Given the description of an element on the screen output the (x, y) to click on. 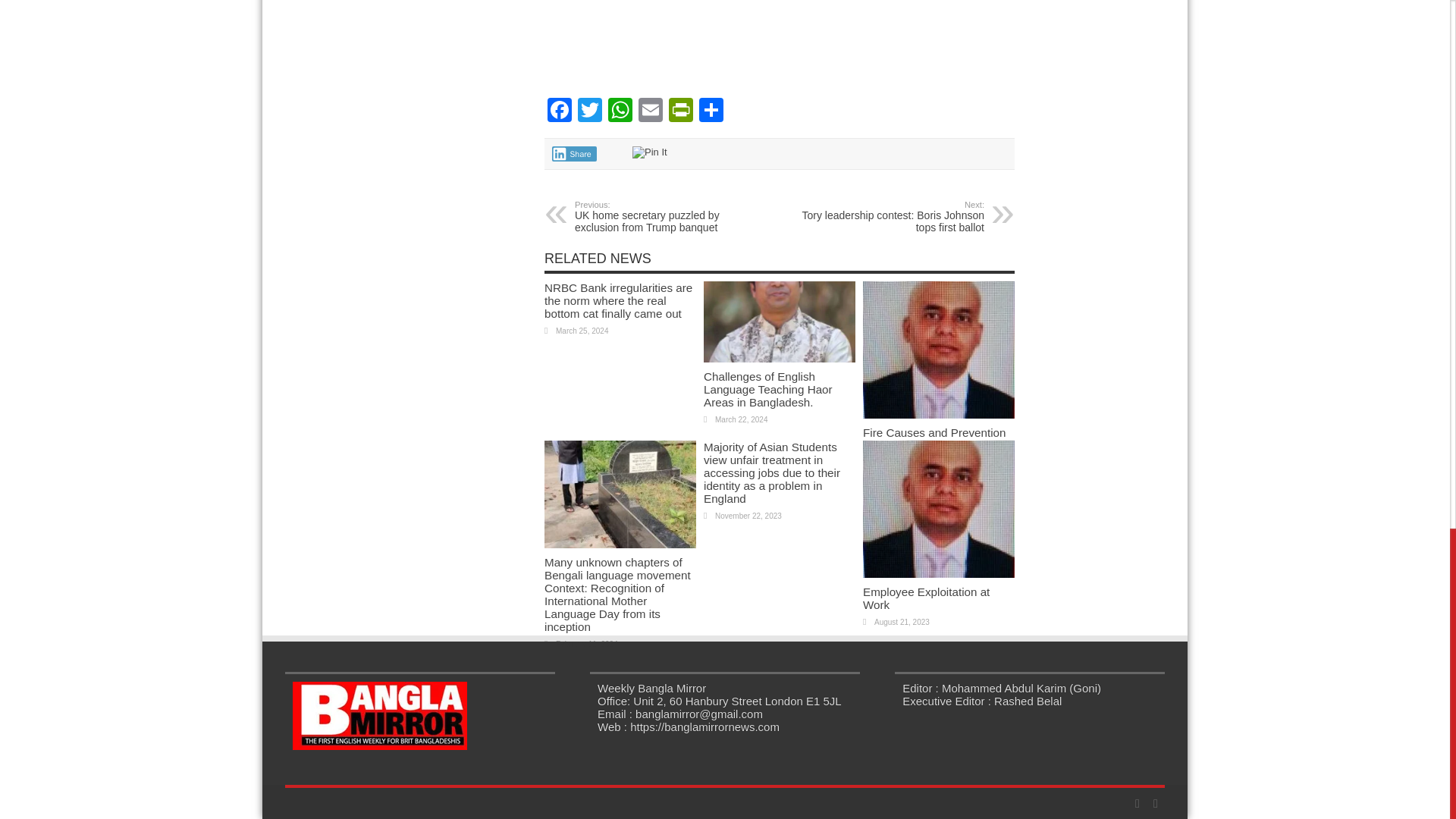
Email (649, 111)
PrintFriendly (680, 111)
Twitter (590, 111)
Facebook (559, 111)
Twitter (590, 111)
Email (649, 111)
WhatsApp (619, 111)
PrintFriendly (680, 111)
WhatsApp (619, 111)
